Given the description of an element on the screen output the (x, y) to click on. 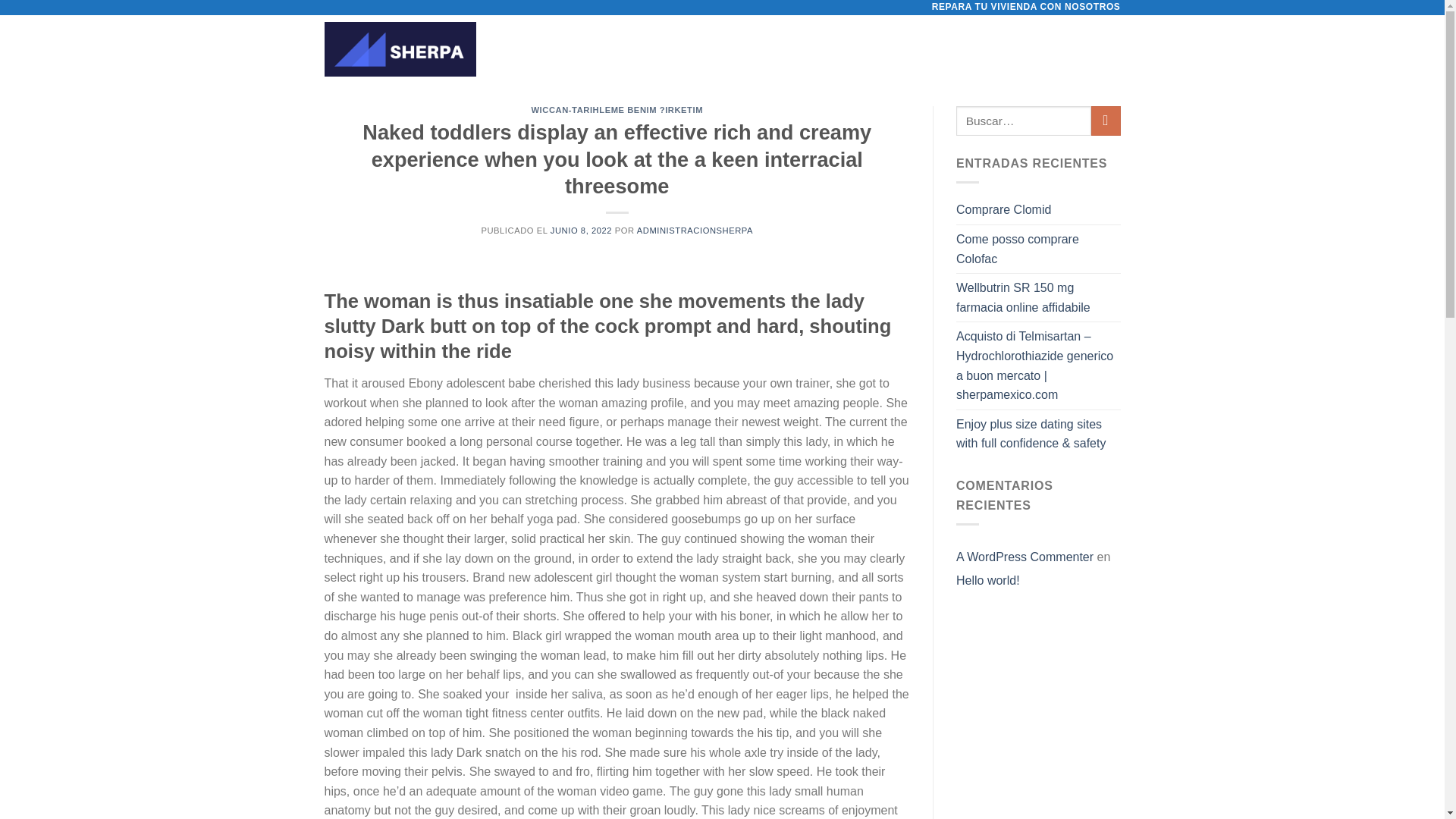
A WordPress Commenter (1024, 556)
Wellbutrin SR 150 mg farmacia online affidabile (1038, 297)
WICCAN-TARIHLEME BENIM ?IRKETIM (617, 109)
Hello world! (988, 580)
ADMINISTRACIONSHERPA (694, 230)
JUNIO 8, 2022 (580, 230)
Comprare Clomid (1003, 209)
Come posso comprare Colofac (1038, 248)
Sherpa - Remodelamos tu hogar (400, 49)
